Given the description of an element on the screen output the (x, y) to click on. 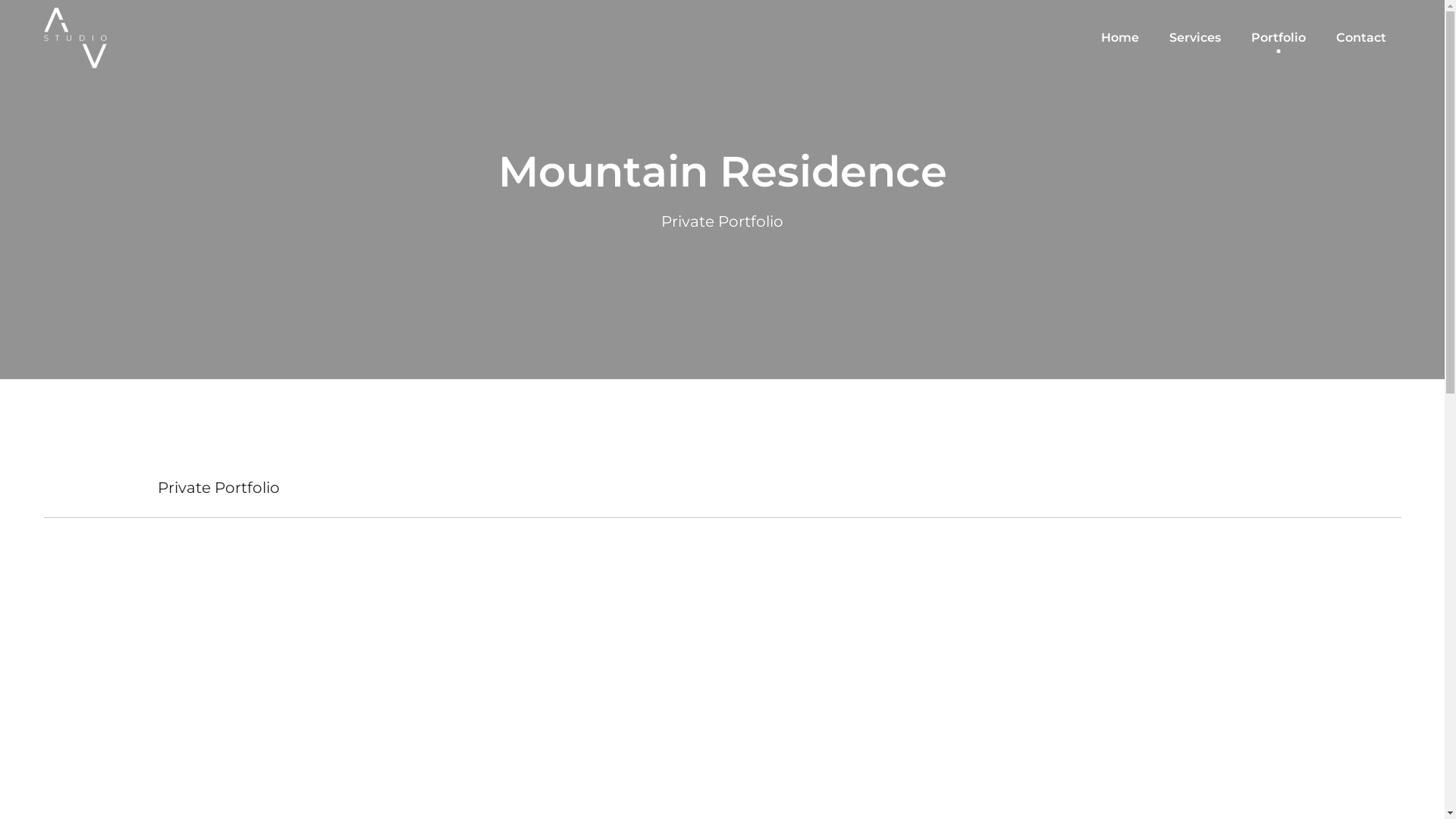
Contact Element type: text (1361, 37)
Portfolio Element type: text (1278, 37)
Services Element type: text (1195, 37)
Home Element type: text (1119, 37)
